Given the description of an element on the screen output the (x, y) to click on. 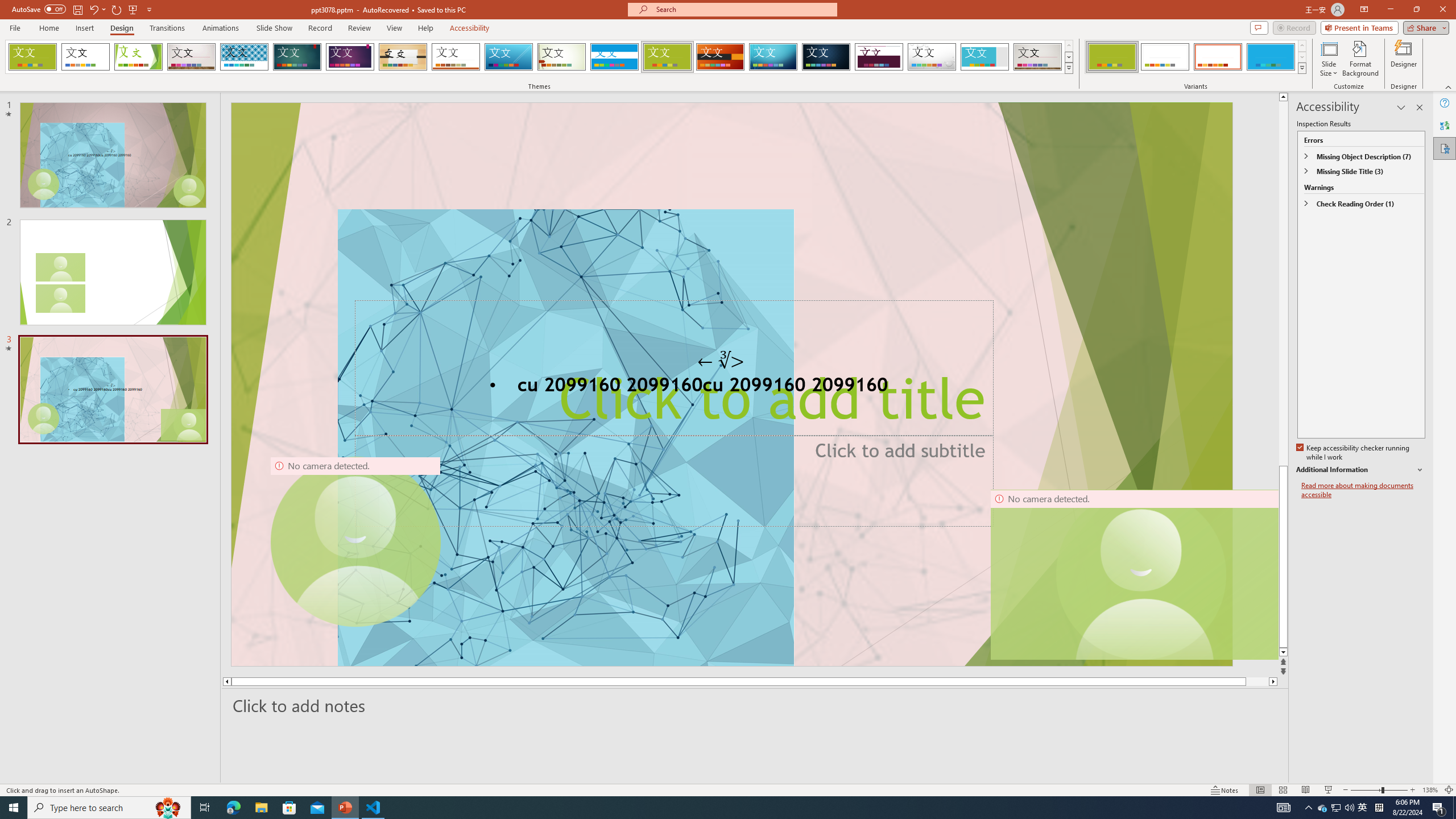
AutomationID: ThemeVariantsGallery (1195, 56)
TextBox 7 (720, 359)
Format Background (1360, 58)
Droplet (931, 56)
Variants (1301, 67)
Basis Variant 2 (1164, 56)
Dividend (879, 56)
Organic (403, 56)
